Given the description of an element on the screen output the (x, y) to click on. 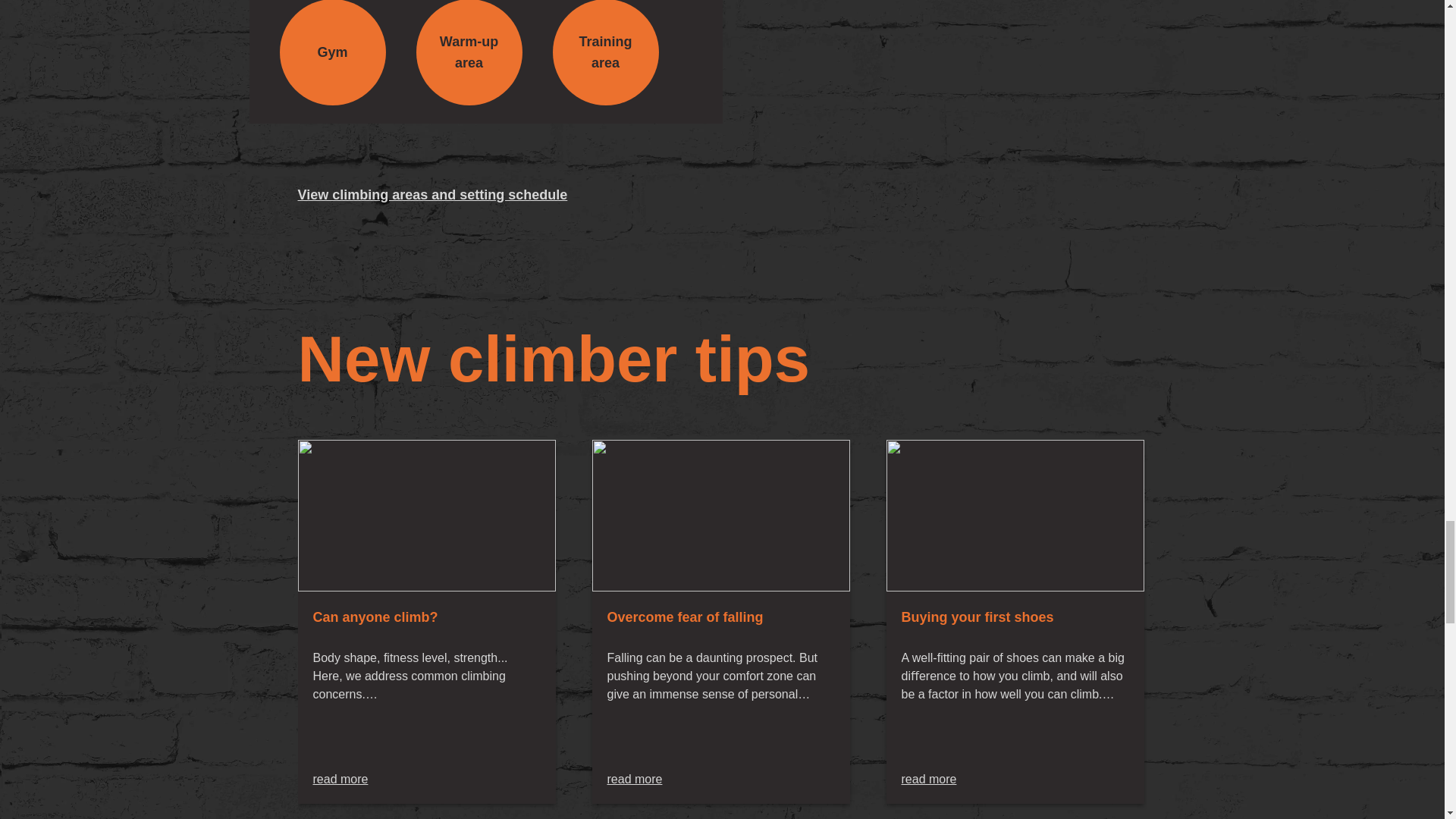
View climbing areas and setting schedule (432, 194)
